Given the description of an element on the screen output the (x, y) to click on. 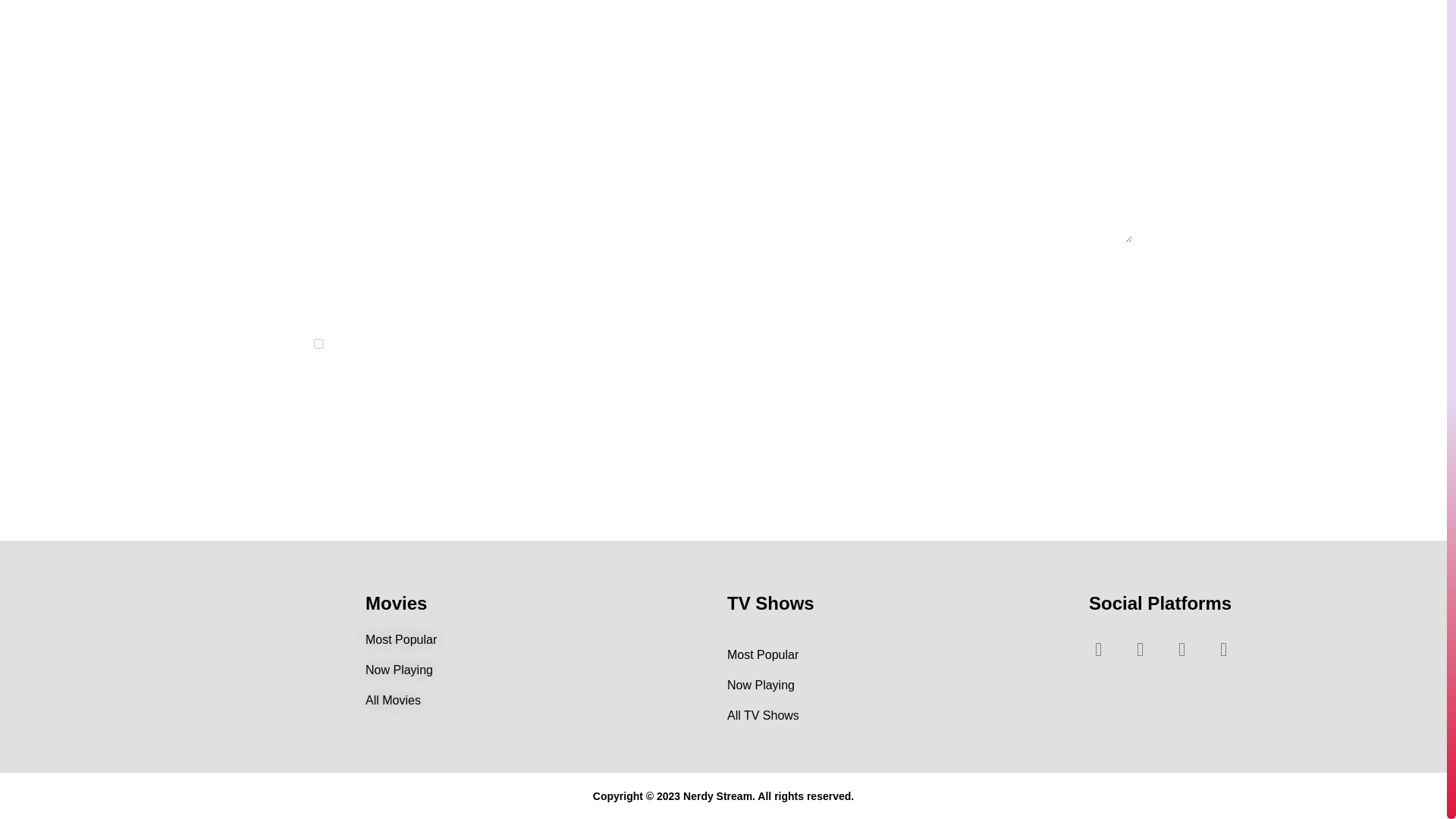
yes (318, 343)
Submit (357, 391)
